Given the description of an element on the screen output the (x, y) to click on. 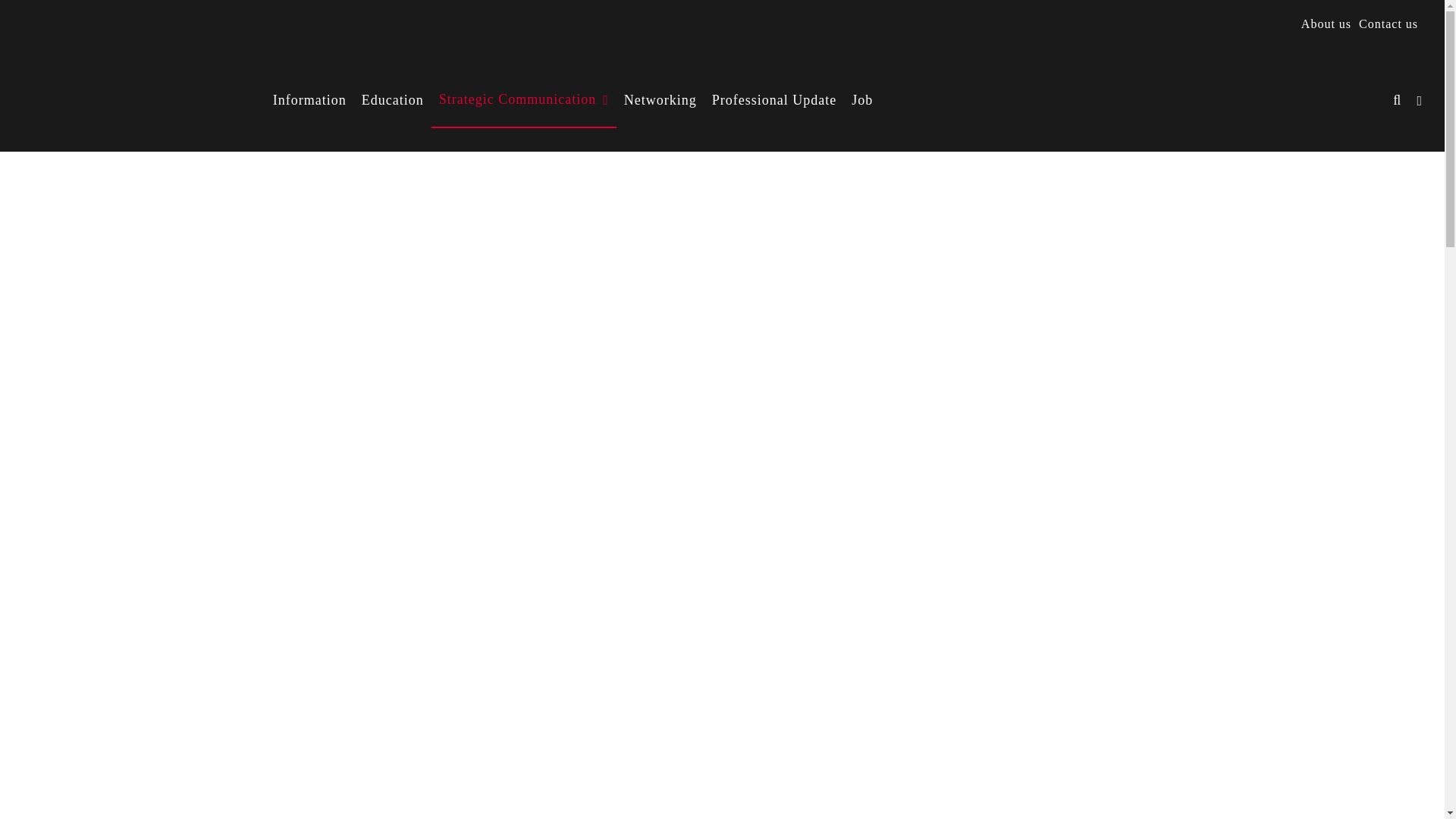
Contact us (1388, 24)
Information (308, 100)
Strategic Communication (522, 100)
Professional Update (774, 100)
About us (1326, 24)
Education (391, 100)
Networking (659, 100)
